Given the description of an element on the screen output the (x, y) to click on. 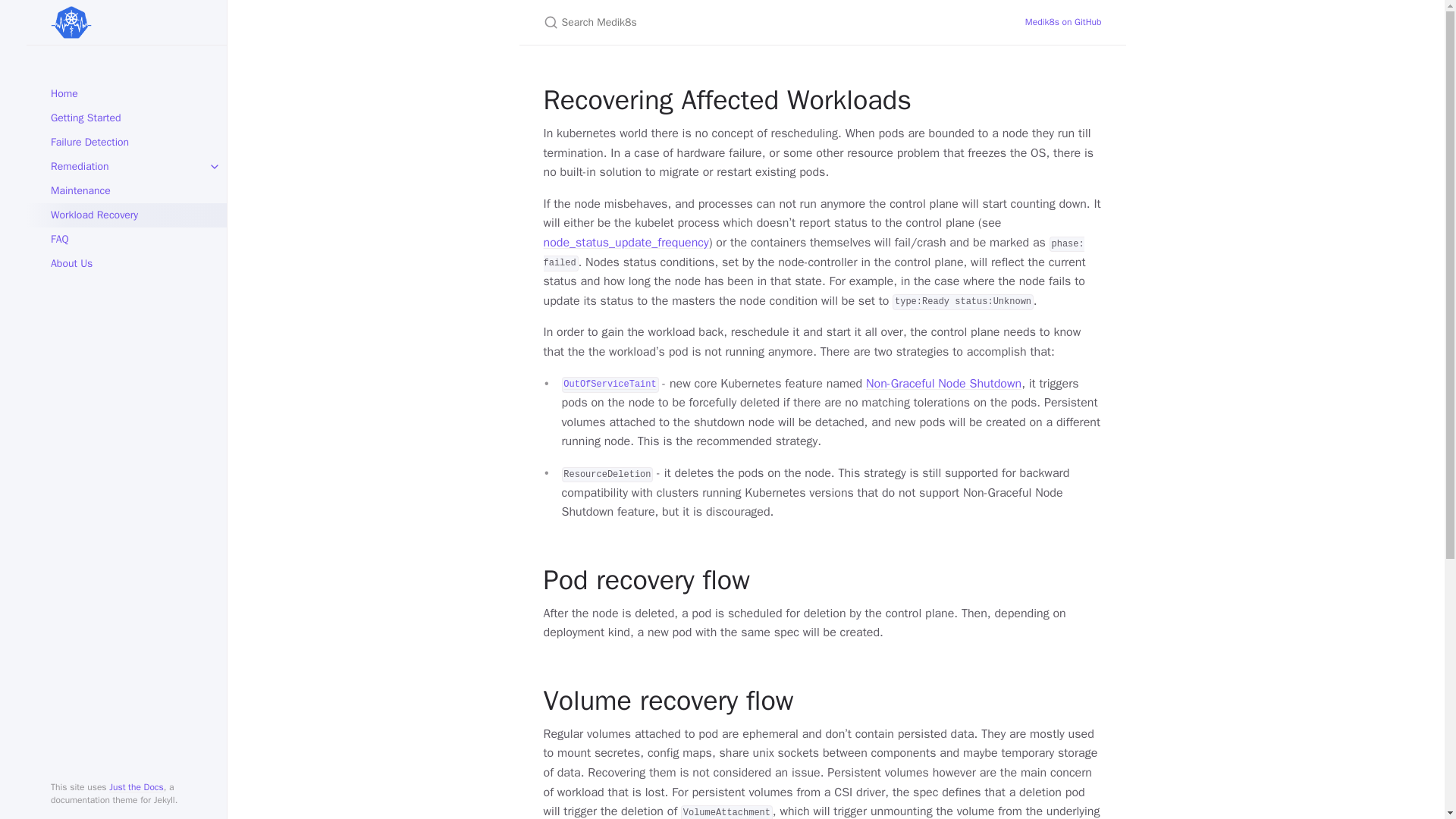
FAQ (126, 239)
Maintenance (126, 191)
Workload Recovery (126, 215)
Just the Docs (136, 787)
Getting Started (126, 118)
Failure Detection (126, 142)
Medik8s on GitHub (1063, 22)
OutOfServiceTaint (609, 383)
About Us (126, 263)
Remediation (126, 166)
